Given the description of an element on the screen output the (x, y) to click on. 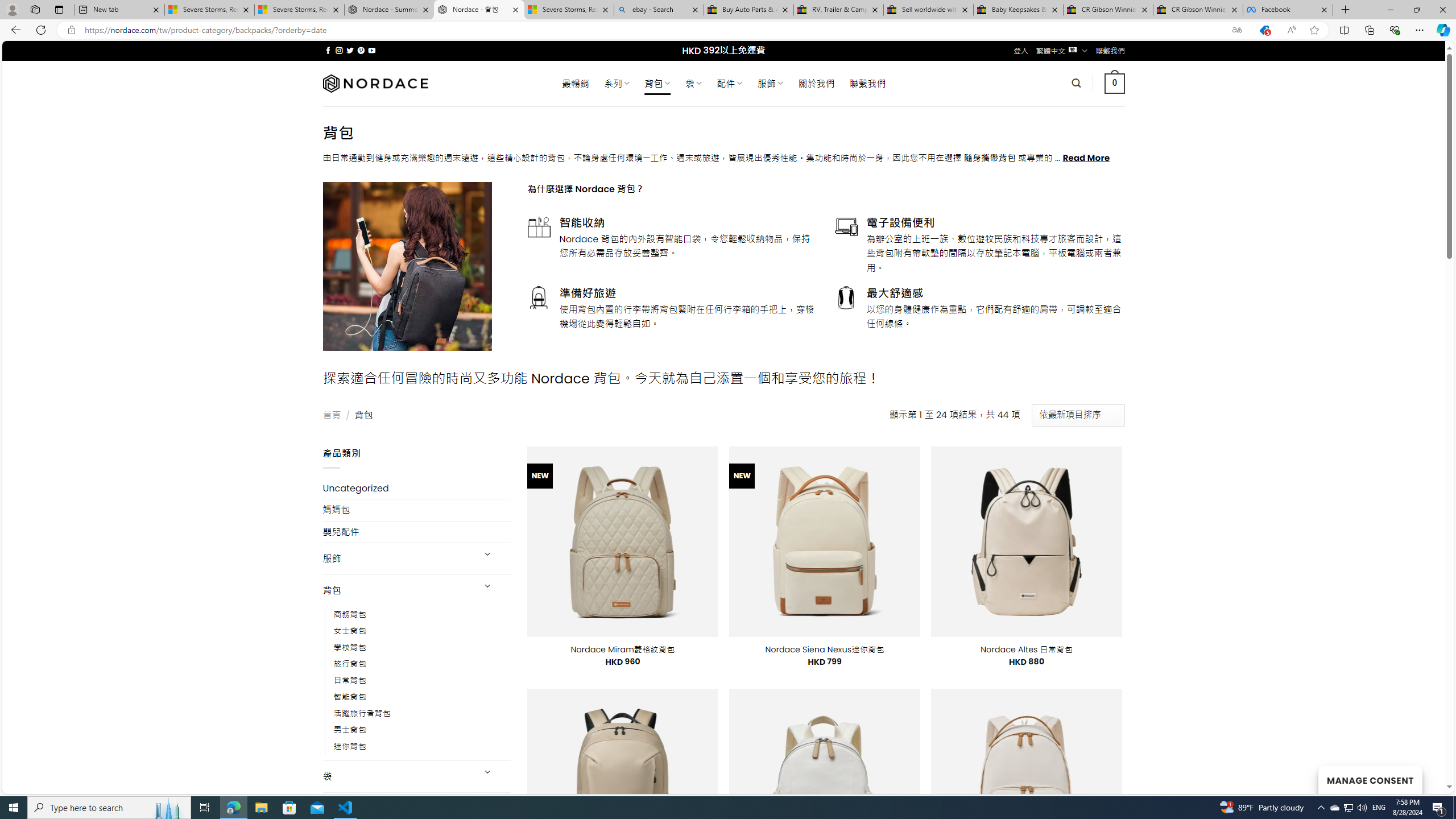
Follow on Pinterest (360, 50)
Follow on Twitter (349, 50)
Restore (1416, 9)
 0  (1115, 83)
Tab actions menu (58, 9)
